Given the description of an element on the screen output the (x, y) to click on. 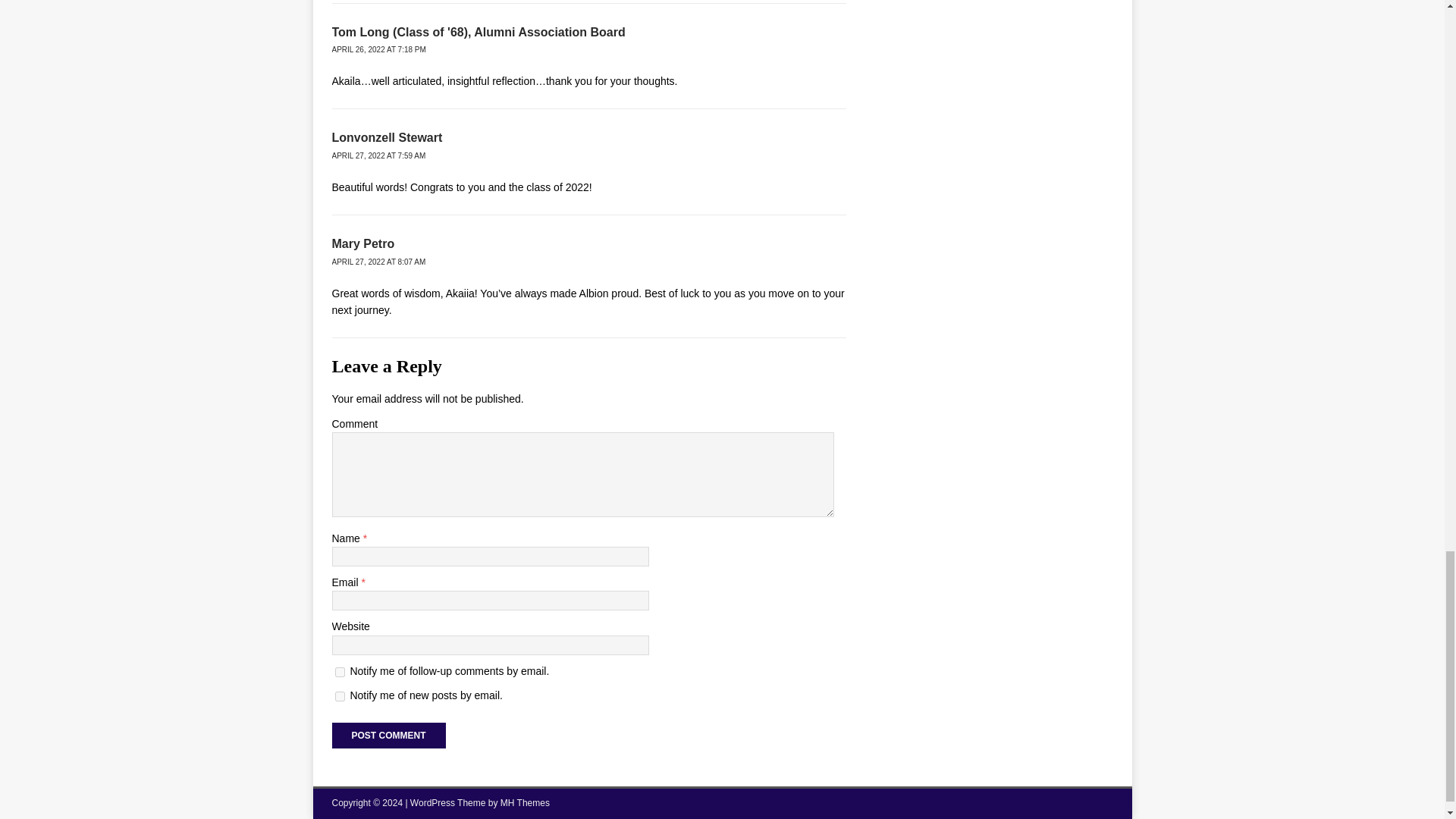
APRIL 26, 2022 AT 7:18 PM (378, 49)
Post Comment (388, 735)
subscribe (339, 696)
APRIL 27, 2022 AT 8:07 AM (378, 261)
APRIL 27, 2022 AT 7:59 AM (378, 155)
Post Comment (388, 735)
MH Themes (525, 802)
subscribe (339, 671)
